Given the description of an element on the screen output the (x, y) to click on. 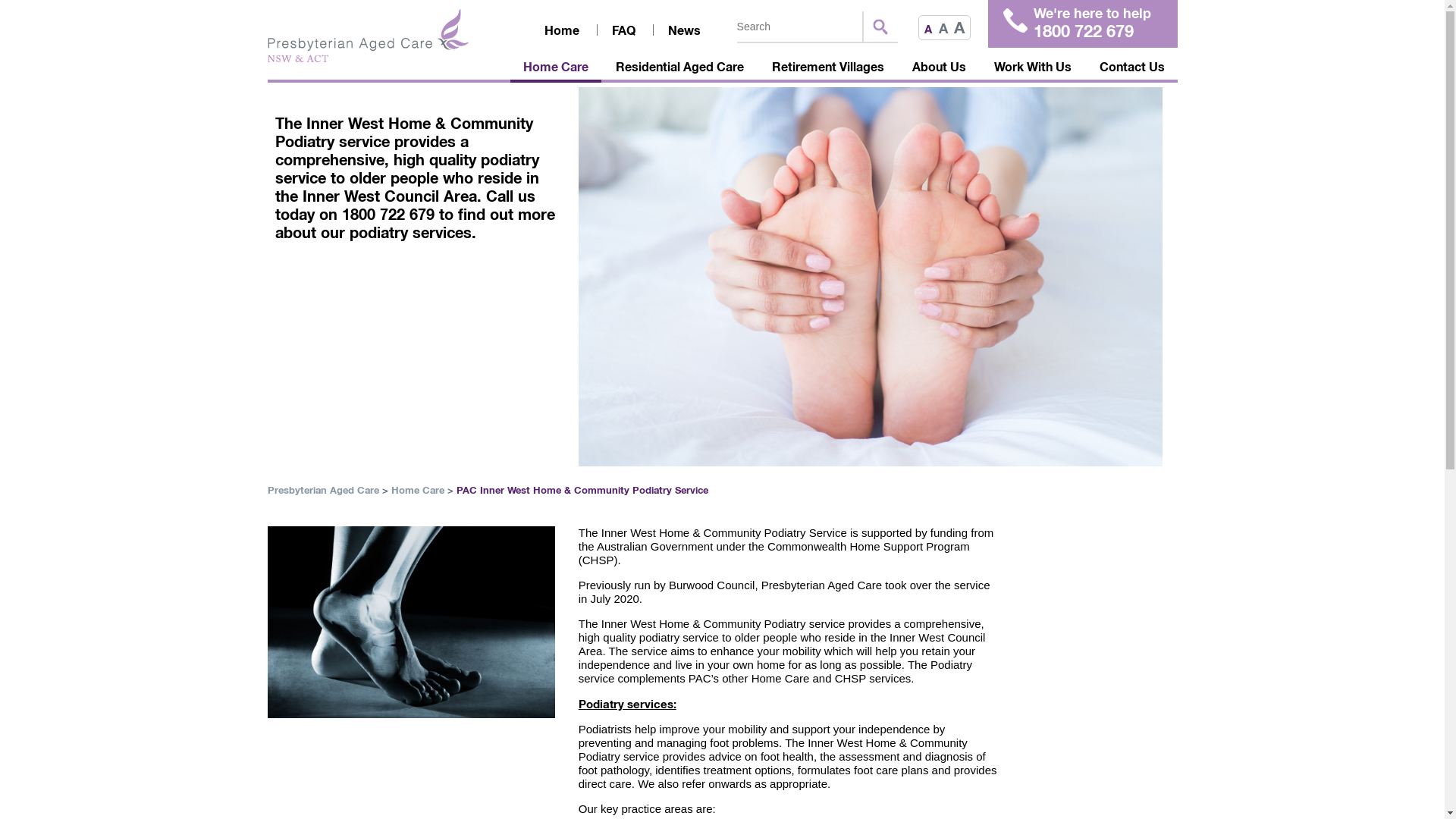
Home Element type: text (561, 29)
Home Care Element type: text (417, 489)
FAQ Element type: text (623, 29)
Home Care Element type: text (555, 69)
Residential Aged Care Element type: text (679, 69)
About Us Element type: text (939, 69)
Presbyterian Aged Care Element type: text (322, 489)
We're here to help
1800 722 679 Element type: text (1081, 23)
Contact Us Element type: text (1130, 69)
Work With Us Element type: text (1032, 69)
Retirement Villages Element type: text (828, 69)
News Element type: text (684, 29)
Search Element type: hover (800, 27)
